Given the description of an element on the screen output the (x, y) to click on. 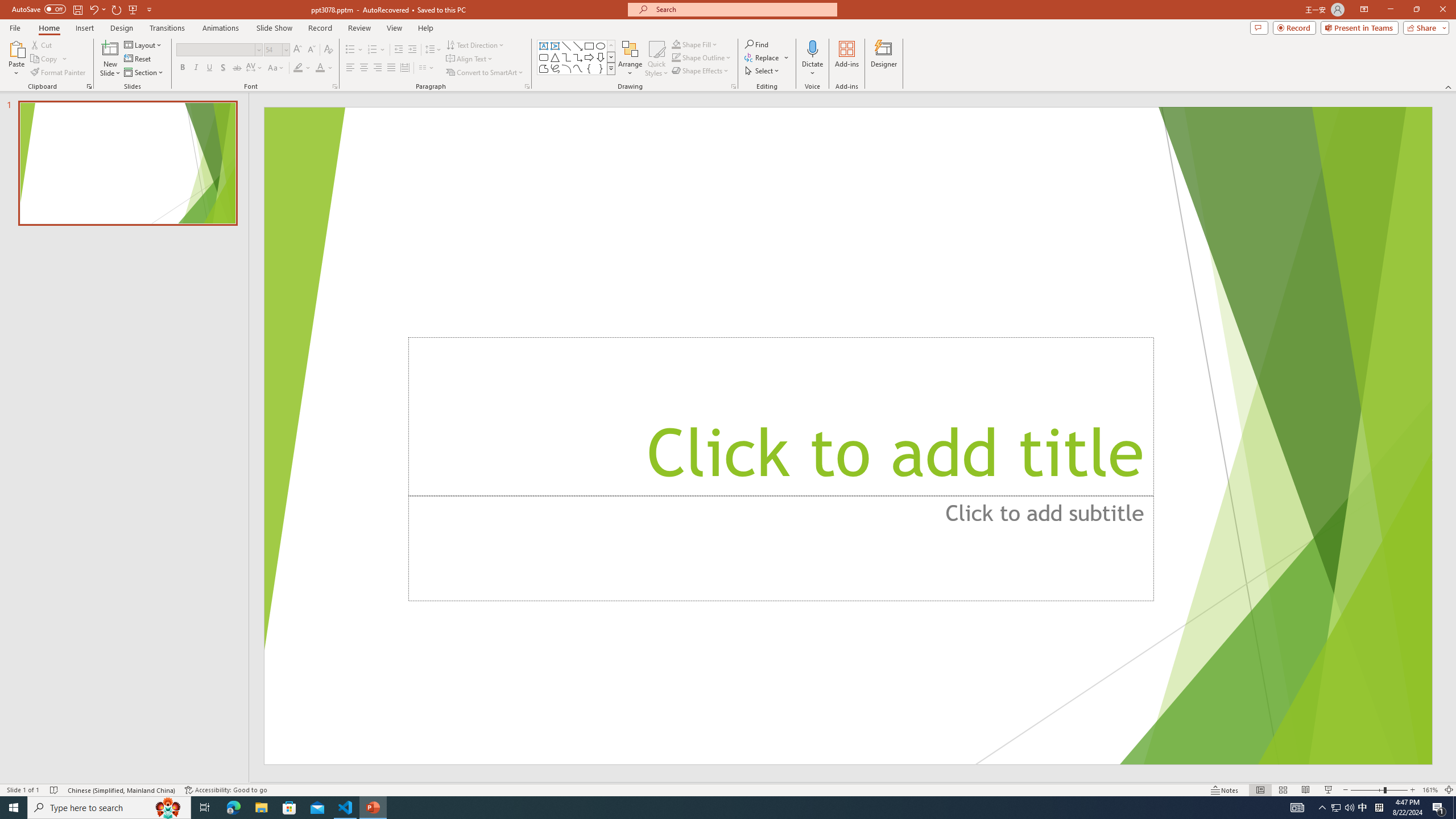
Clear Formatting (327, 49)
Bullets (354, 49)
Share (1423, 27)
Right Brace (600, 68)
File Tab (15, 27)
Review (359, 28)
Undo (96, 9)
Quick Access Toolbar (82, 9)
Text Direction (476, 44)
From Beginning (133, 9)
Justify (390, 67)
Copy (49, 58)
Insert (83, 28)
Transitions (167, 28)
More Options (812, 68)
